Given the description of an element on the screen output the (x, y) to click on. 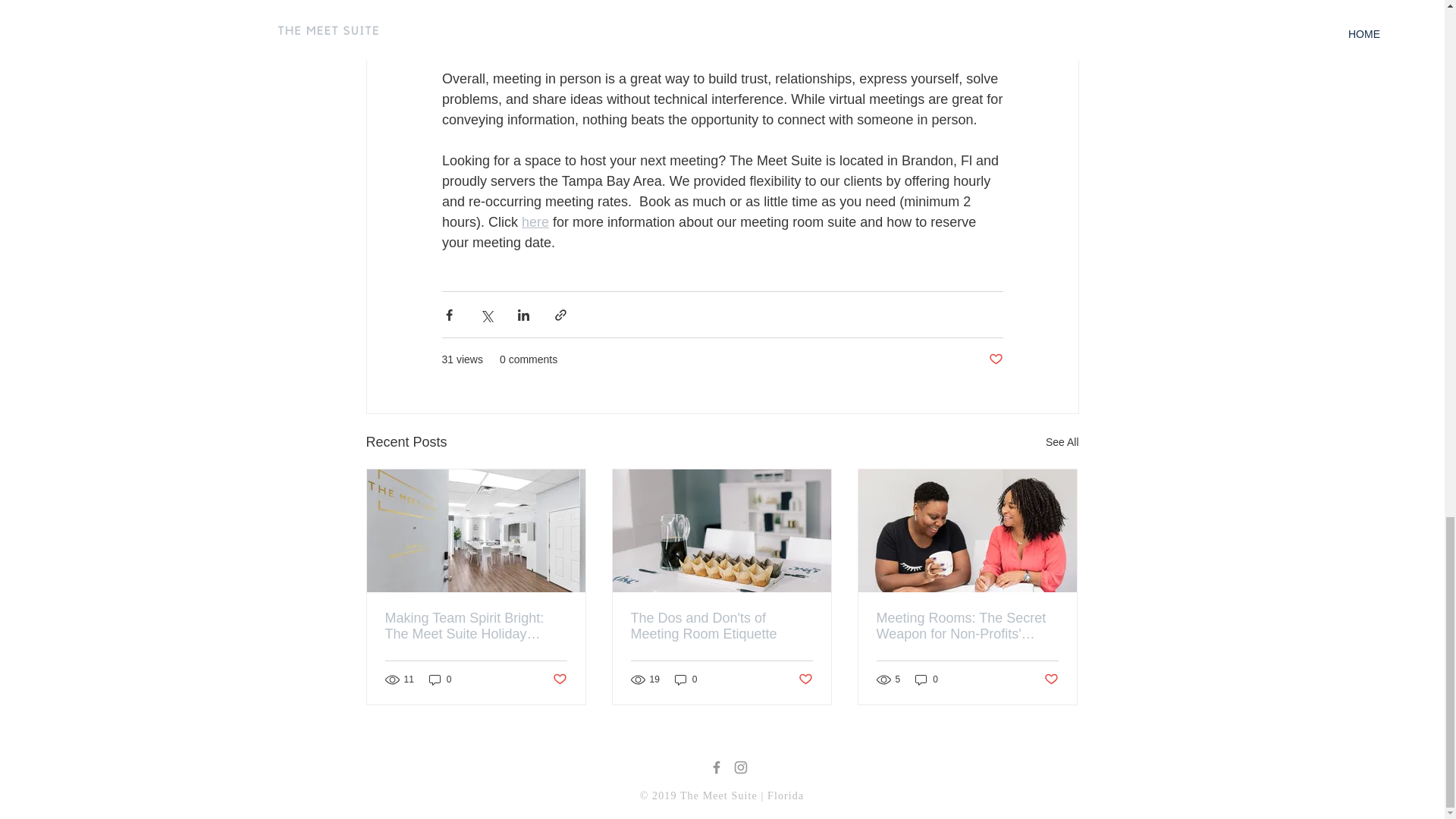
The Dos and Don'ts of Meeting Room Etiquette (721, 626)
0 (926, 679)
Meeting Rooms: The Secret Weapon for Non-Profits' Success (967, 626)
0 (685, 679)
Making Team Spirit Bright: The Meet Suite Holiday Gatherings (476, 626)
0 (440, 679)
here (534, 222)
See All (1061, 442)
Post not marked as liked (558, 679)
Post not marked as liked (1050, 679)
